Given the description of an element on the screen output the (x, y) to click on. 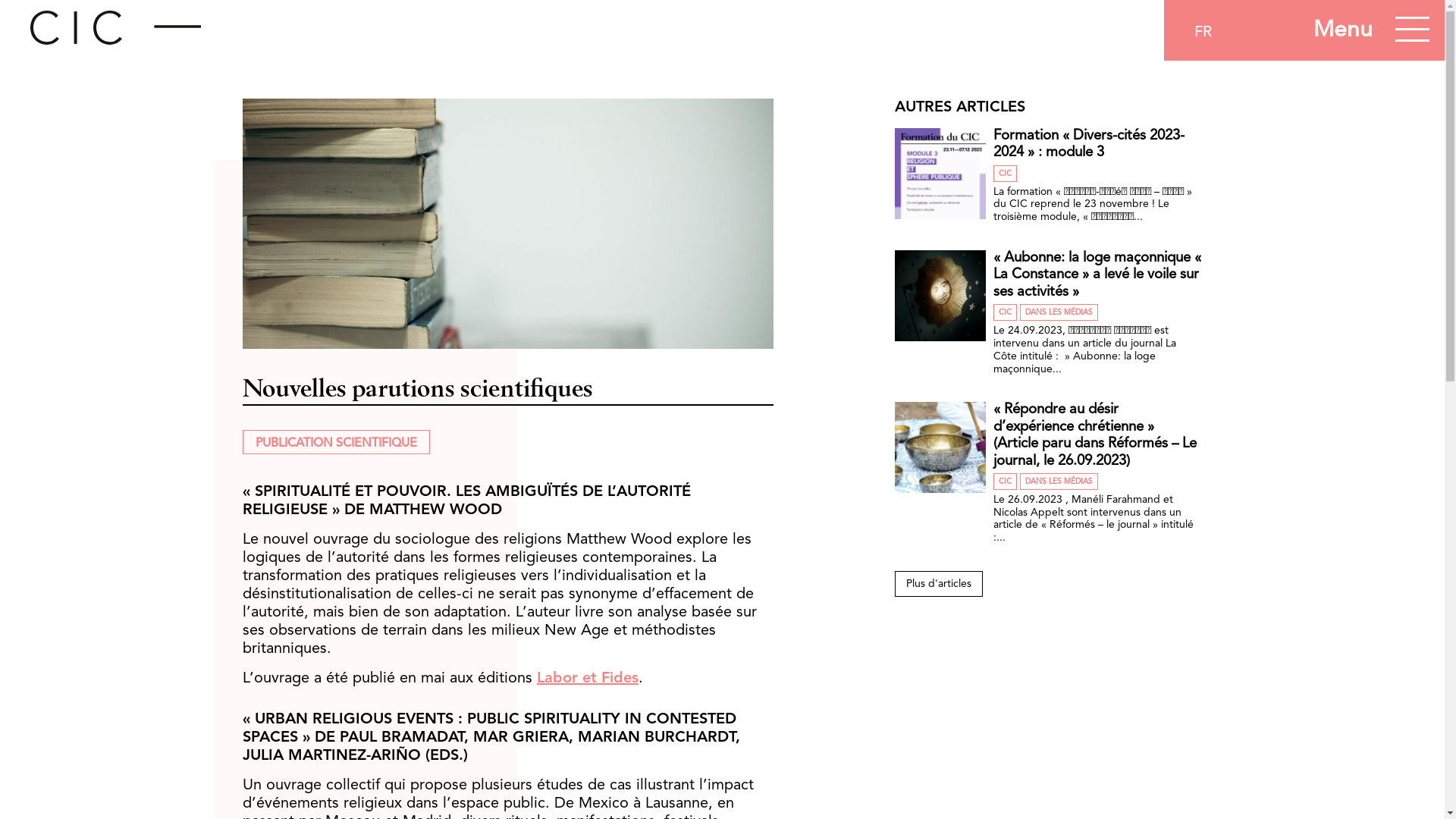
Labor et Fides Element type: text (587, 678)
FR Element type: text (1202, 32)
Plus d'articles Element type: text (938, 583)
